Given the description of an element on the screen output the (x, y) to click on. 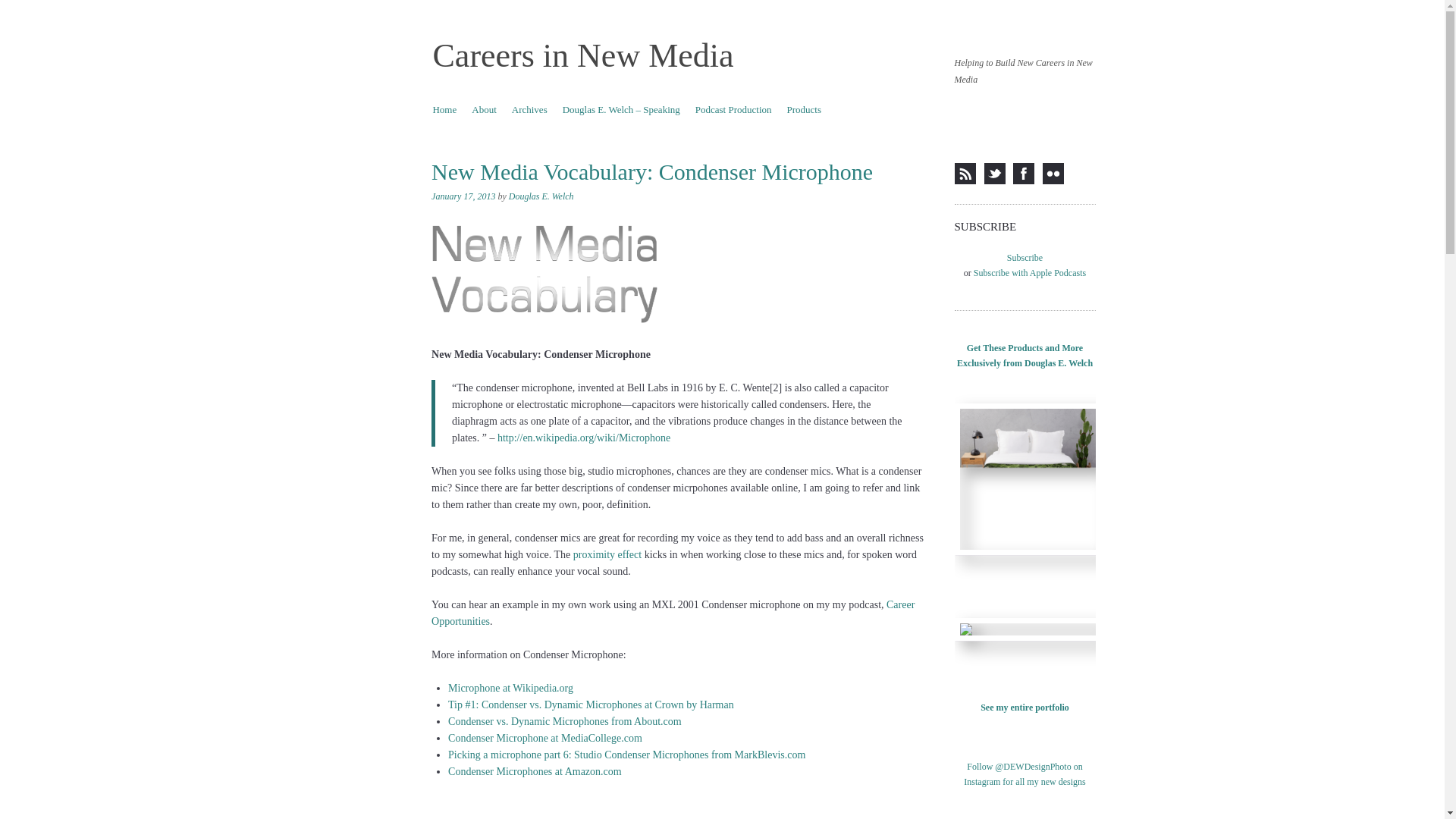
Twitter (995, 173)
Careers in New Media (582, 55)
Career Opportunities (672, 612)
Podcast Production (732, 108)
About (483, 108)
Microphone at Wikipedia.org (510, 687)
Products (803, 108)
proximity effect (607, 554)
January 17, 2013 (462, 195)
Careers in New Media (582, 55)
